Given the description of an element on the screen output the (x, y) to click on. 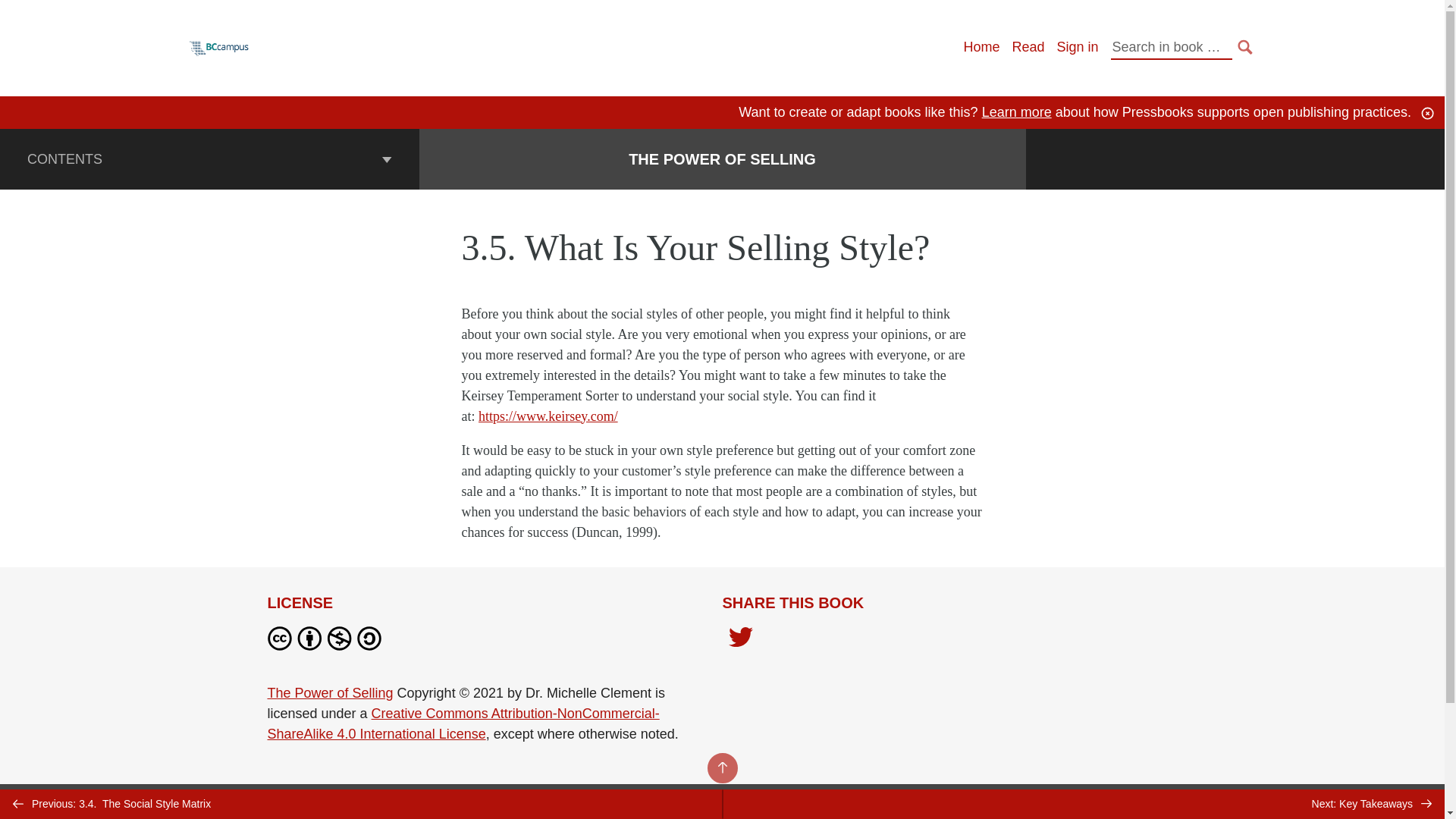
CONTENTS (209, 158)
THE POWER OF SELLING (721, 159)
Sign in (1077, 46)
Home (980, 46)
BACK TO TOP (721, 767)
Previous: 3.4.  The Social Style Matrix (361, 804)
Share on Twitter (740, 641)
Learn more (1016, 111)
The Power of Selling (329, 693)
Read (1027, 46)
Share on Twitter (740, 638)
